Given the description of an element on the screen output the (x, y) to click on. 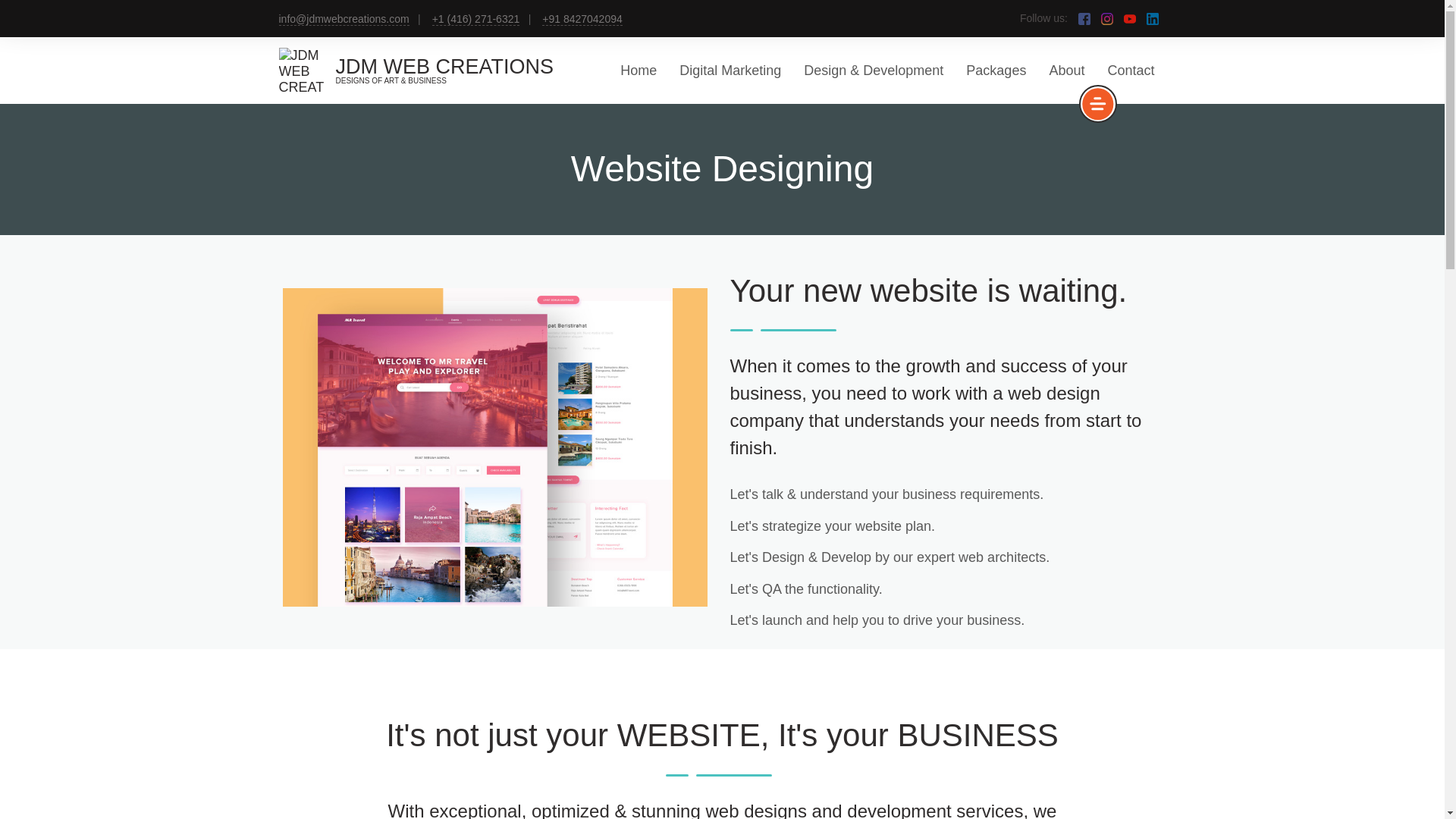
Packages (996, 69)
Contact (1130, 69)
Digital Marketing (729, 69)
About (1066, 69)
Home (638, 69)
